Given the description of an element on the screen output the (x, y) to click on. 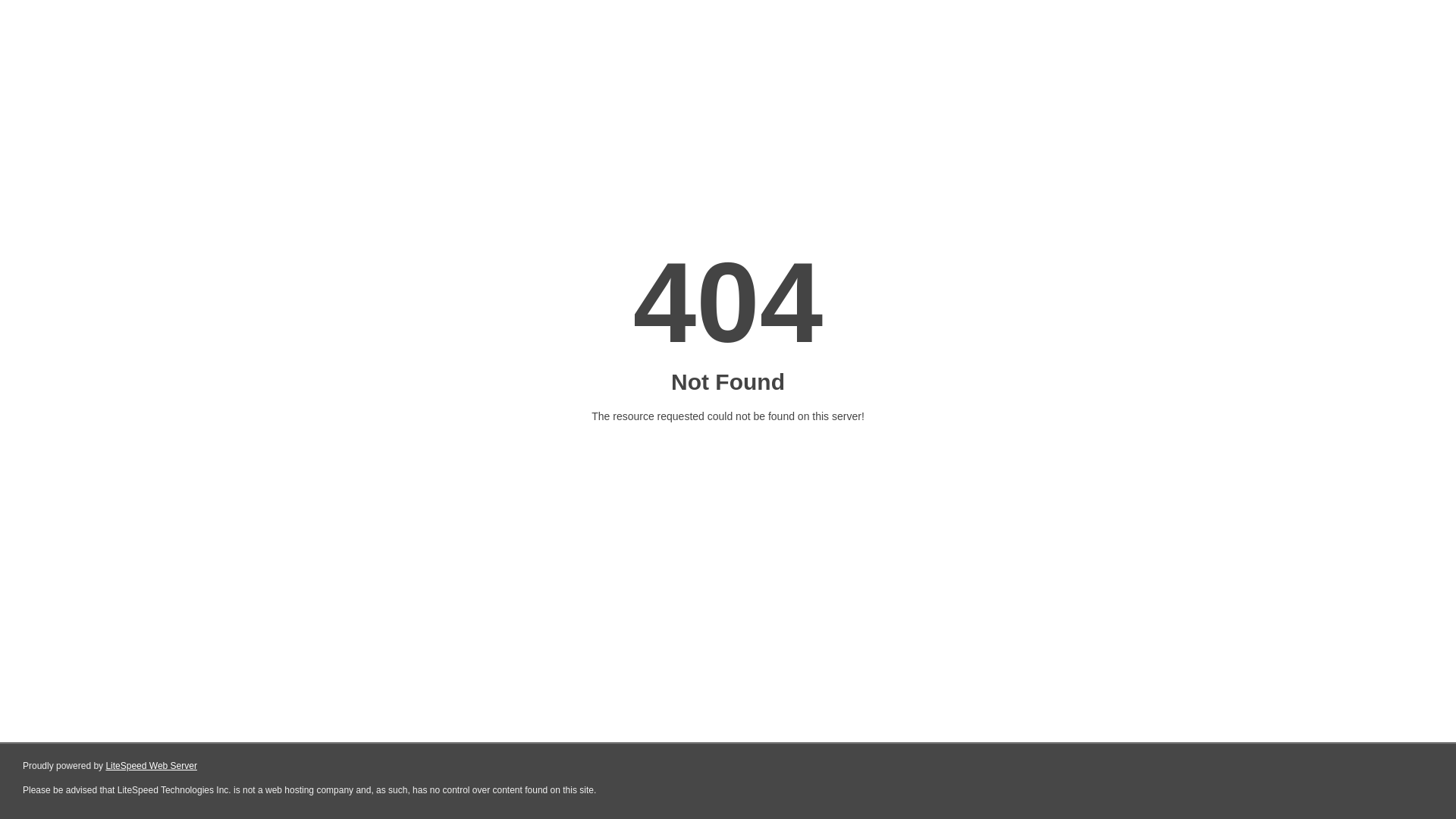
LiteSpeed Web Server Element type: text (151, 765)
